Given the description of an element on the screen output the (x, y) to click on. 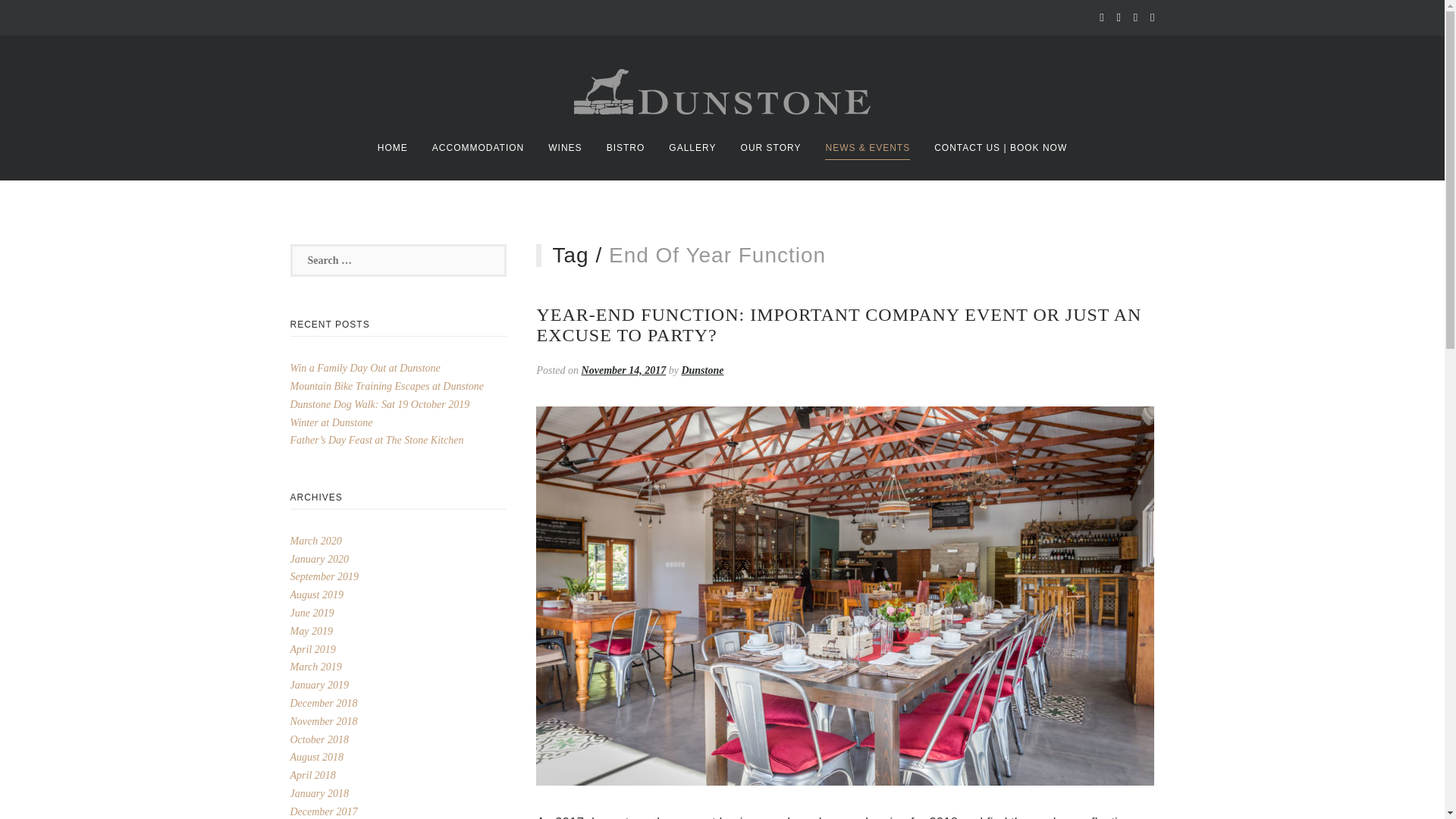
Win a Family Day Out at Dunstone (364, 367)
WINES (564, 147)
ACCOMMODATION (478, 147)
BISTRO (626, 147)
September 2019 (323, 576)
Winter at Dunstone (330, 422)
November 14, 2017 (623, 369)
June 2019 (311, 613)
January 2020 (318, 559)
GALLERY (692, 147)
Search (48, 16)
HOME (392, 147)
Dunstone Dog Walk: Sat 19 October 2019 (378, 404)
August 2019 (315, 594)
